Given the description of an element on the screen output the (x, y) to click on. 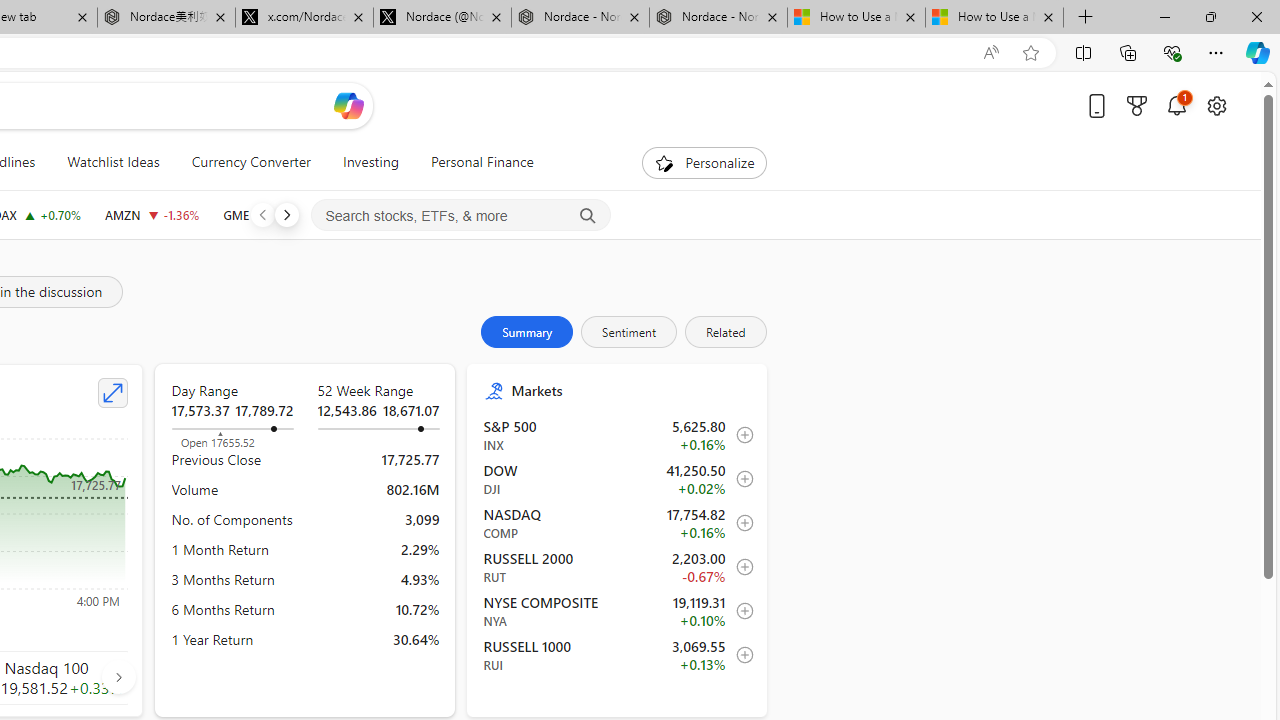
x.com/NordaceOfficial (303, 17)
AMZN AMAZON.COM, INC. decrease 173.12 -2.38 -1.36% (152, 214)
Class: notInWatclistIcon-DS-EntryPoint1-5 lightTheme (739, 655)
Next (286, 214)
Markets (630, 390)
Investing (370, 162)
Nordace (@NordaceOfficial) / X (441, 17)
COMP NASDAQ increase 17,754.82 +29.06 +0.16% itemundefined (617, 523)
Previous (262, 214)
Personal Finance (481, 162)
